Given the description of an element on the screen output the (x, y) to click on. 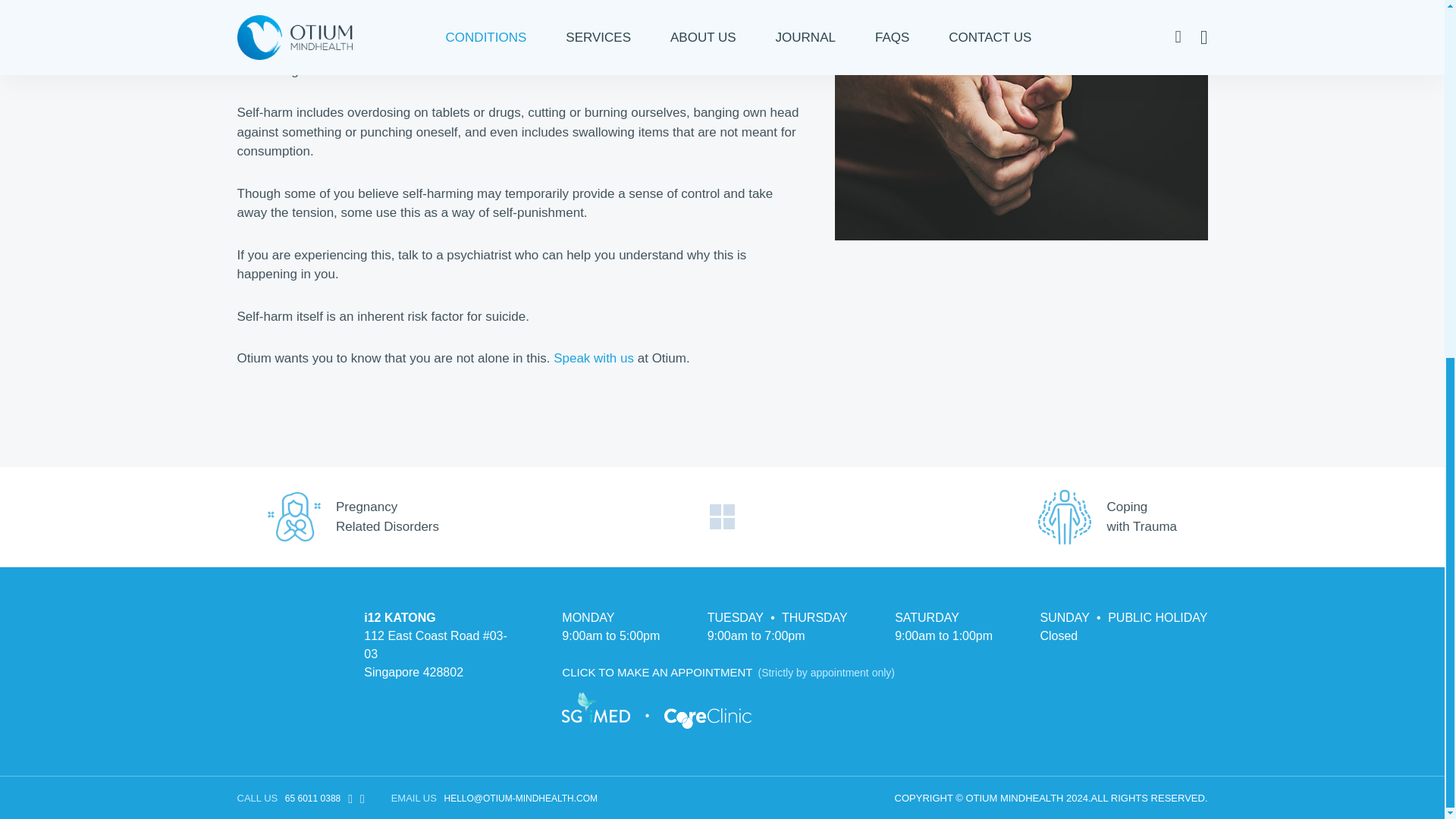
Speak with us (593, 358)
65 6011 0388 (1122, 516)
